Given the description of an element on the screen output the (x, y) to click on. 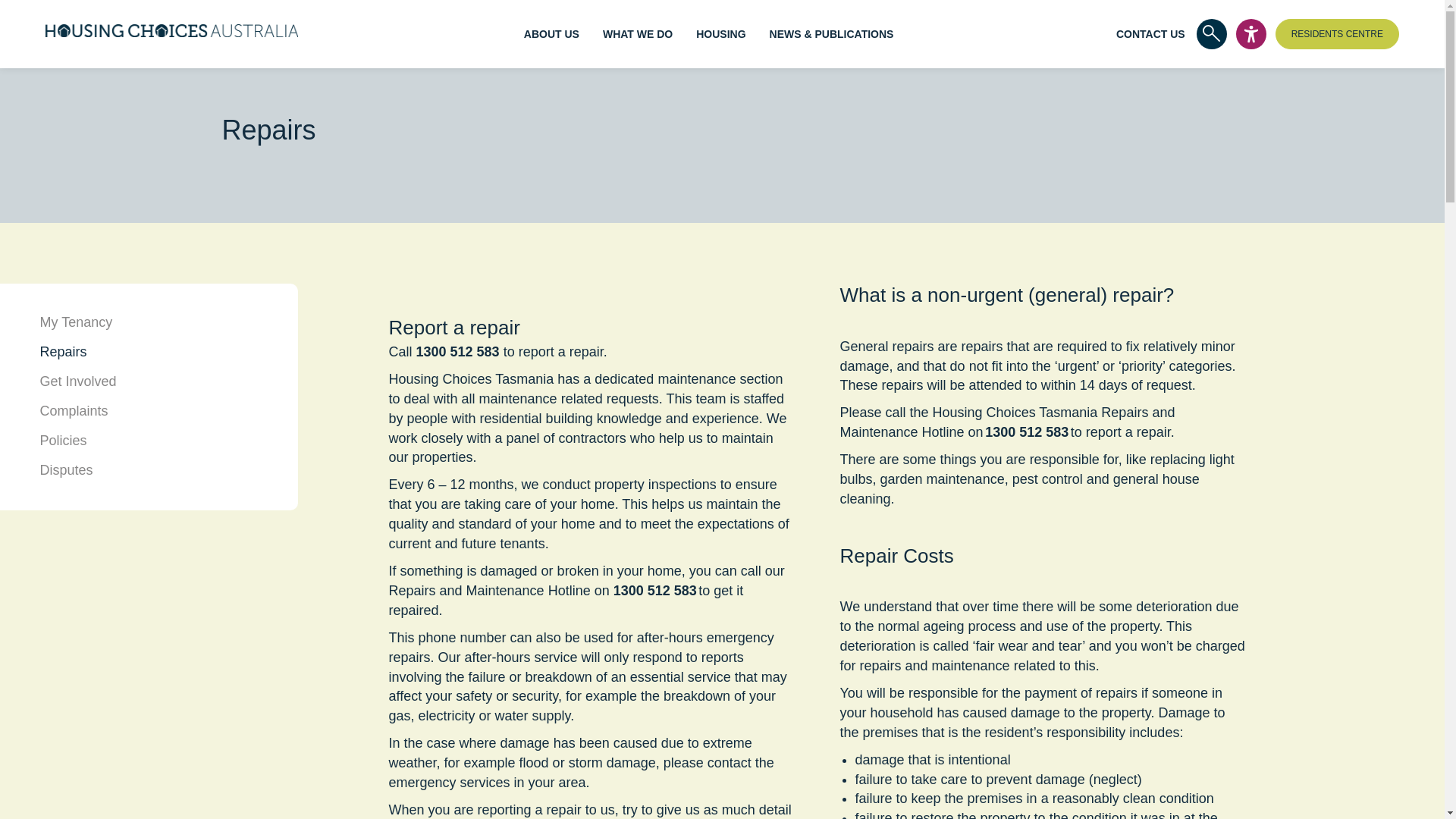
Disputes (66, 469)
Get Involved (77, 381)
ABOUT US (551, 33)
My Tenancy (75, 322)
HOUSING (720, 33)
WHAT WE DO (637, 33)
Repairs (62, 351)
Complaints (73, 410)
Policies (62, 440)
CONTACT US (1150, 33)
